Given the description of an element on the screen output the (x, y) to click on. 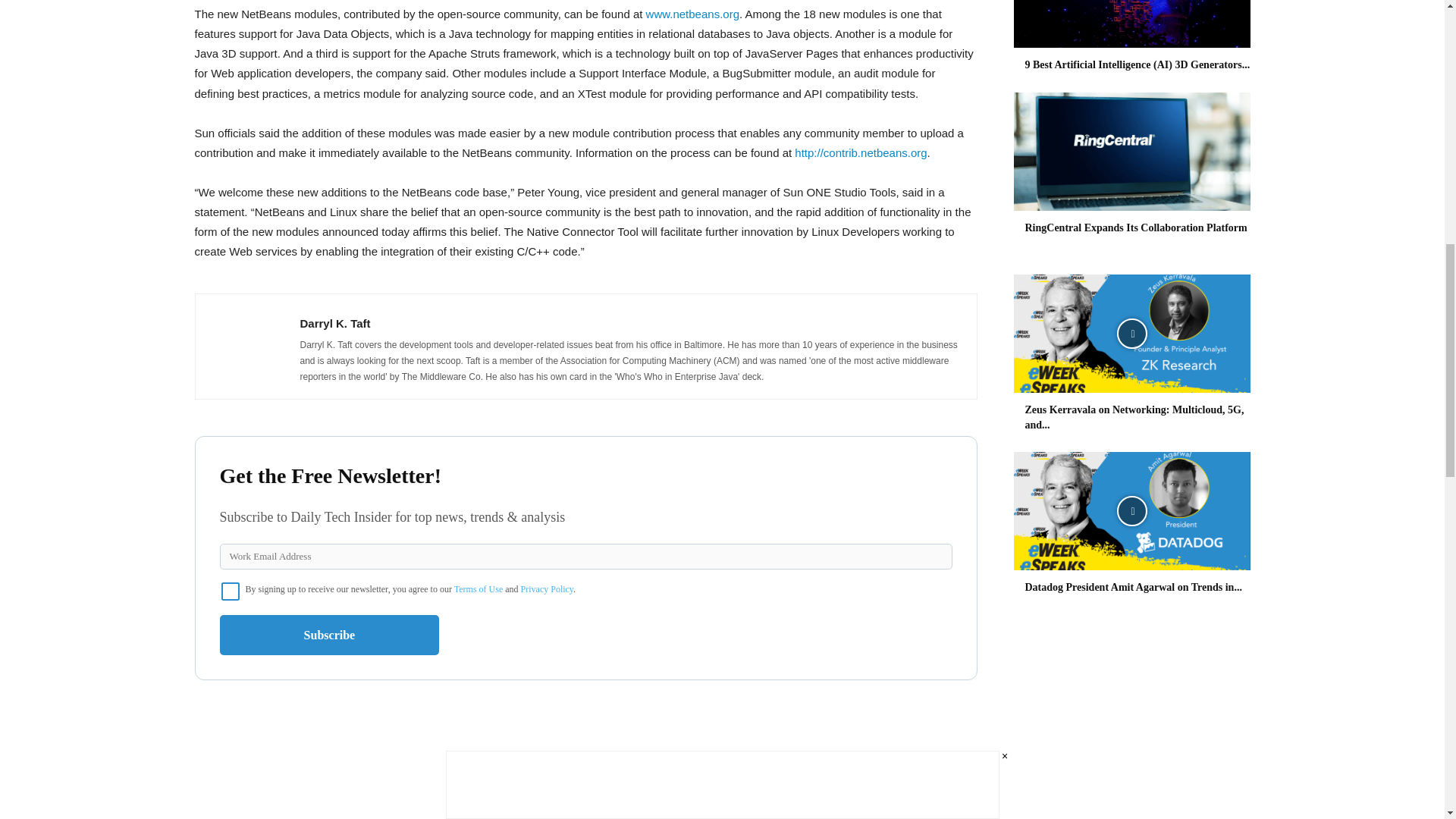
RingCentral Expands Its Collaboration Platform (1131, 151)
Zeus Kerravala on Networking: Multicloud, 5G, and Automation (1134, 417)
RingCentral Expands Its Collaboration Platform (1136, 227)
on (230, 591)
Zeus Kerravala on Networking: Multicloud, 5G, and Automation (1131, 333)
